Given the description of an element on the screen output the (x, y) to click on. 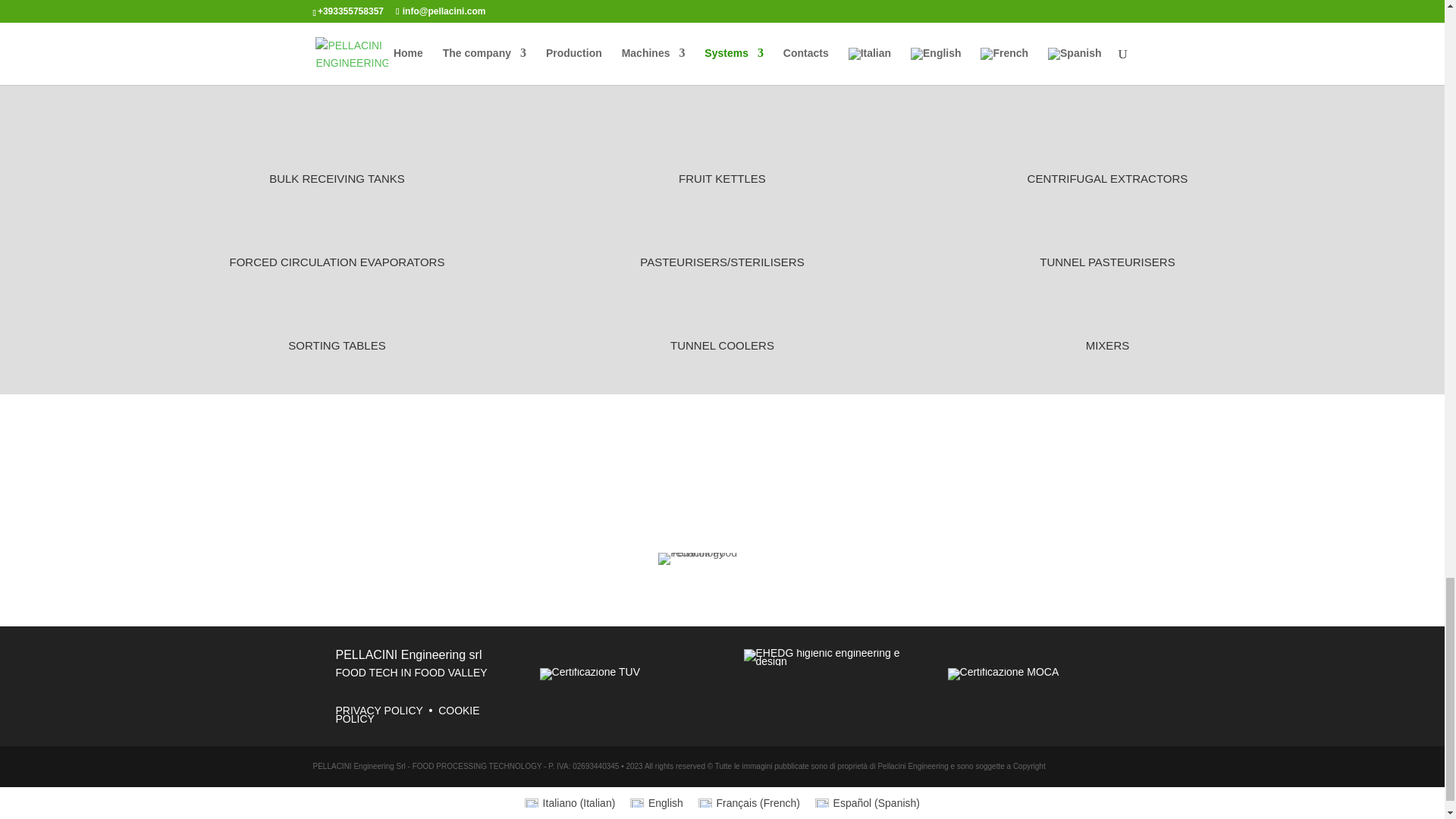
Pellacini Food Technology (722, 558)
